Given the description of an element on the screen output the (x, y) to click on. 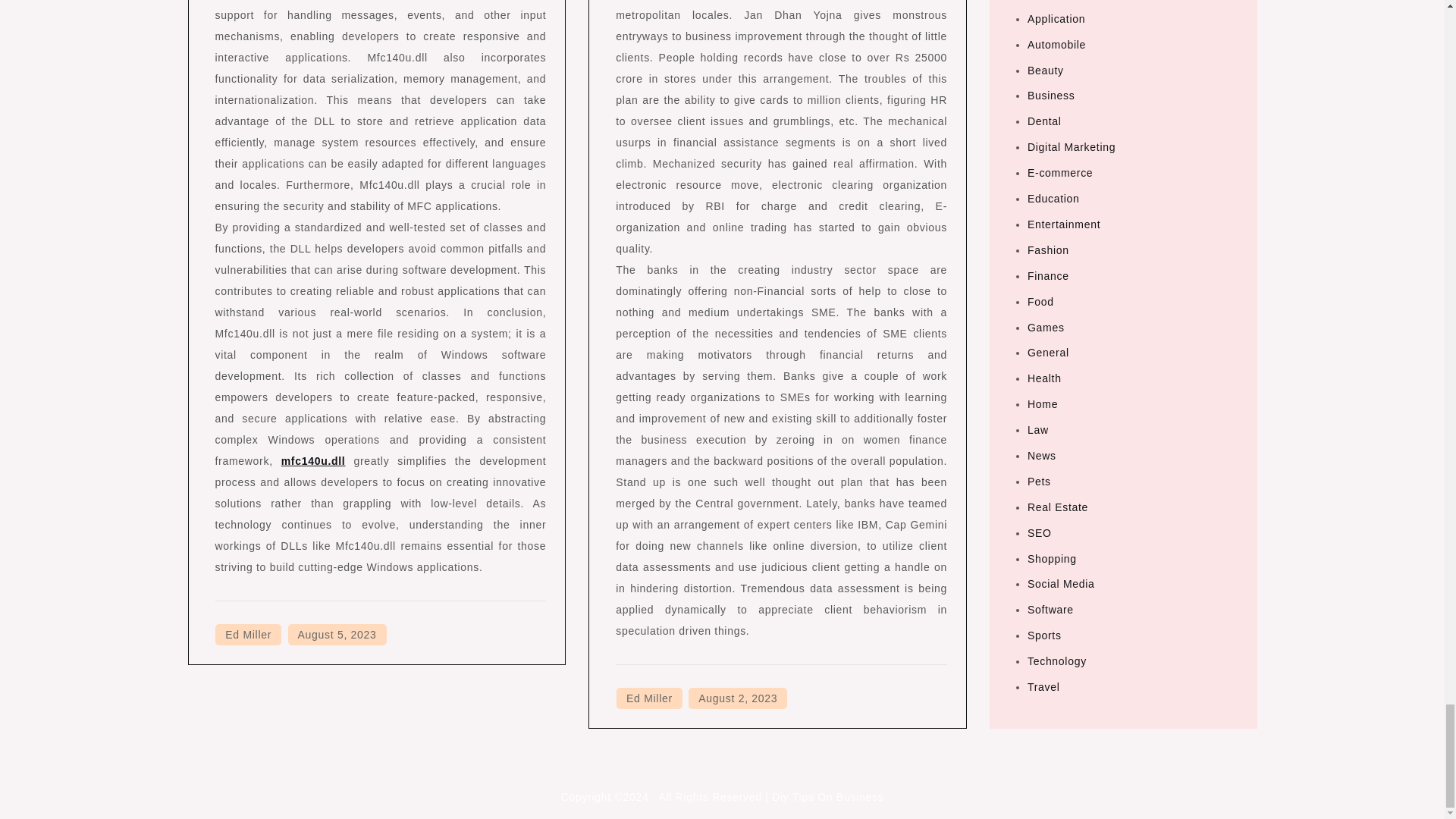
mfc140u.dll (313, 460)
Ed Miller (248, 634)
August 5, 2023 (337, 634)
